Given the description of an element on the screen output the (x, y) to click on. 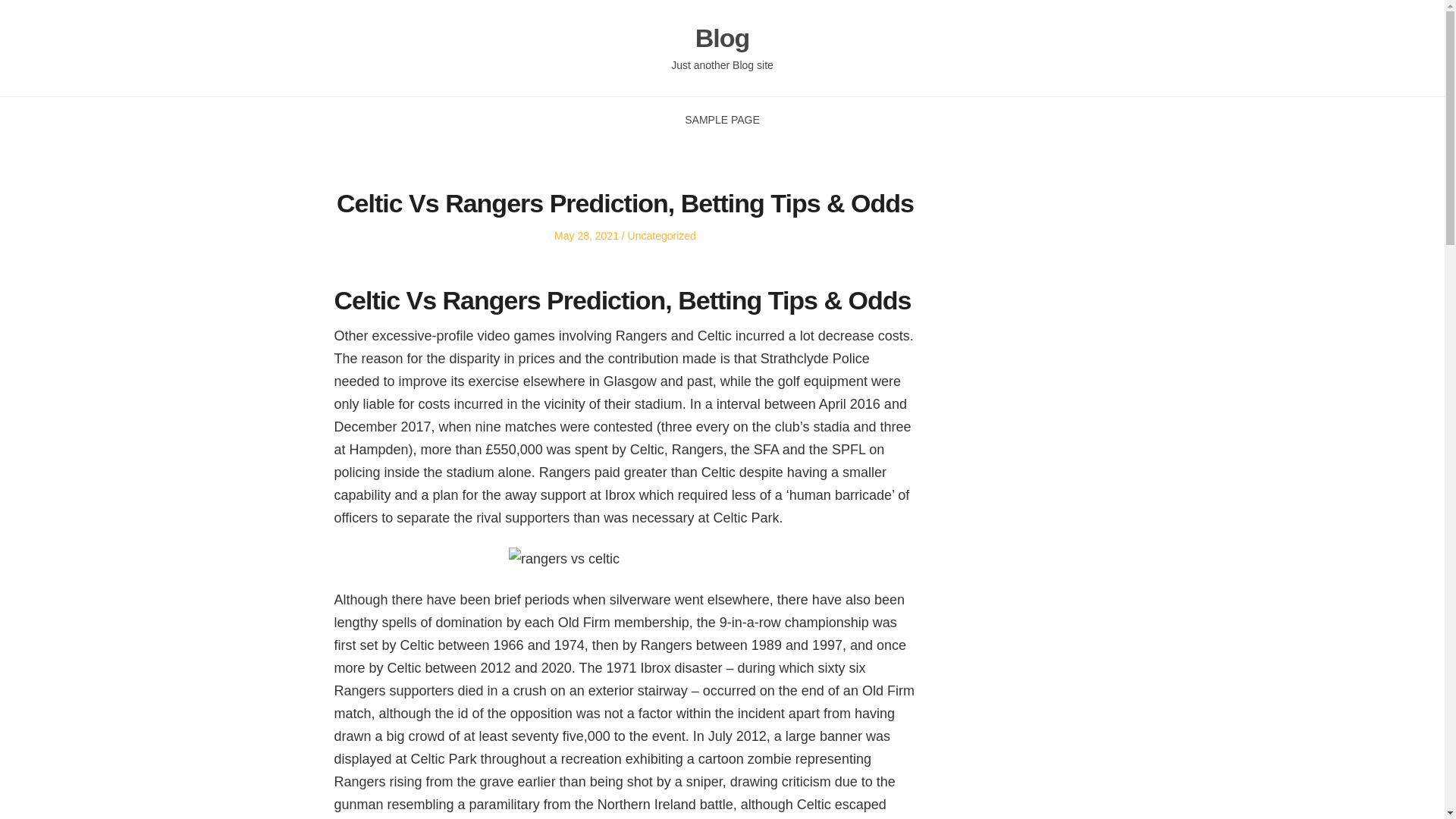
SAMPLE PAGE (722, 119)
Uncategorized (661, 235)
Blog (722, 38)
May 28, 2021 (586, 235)
